Given the description of an element on the screen output the (x, y) to click on. 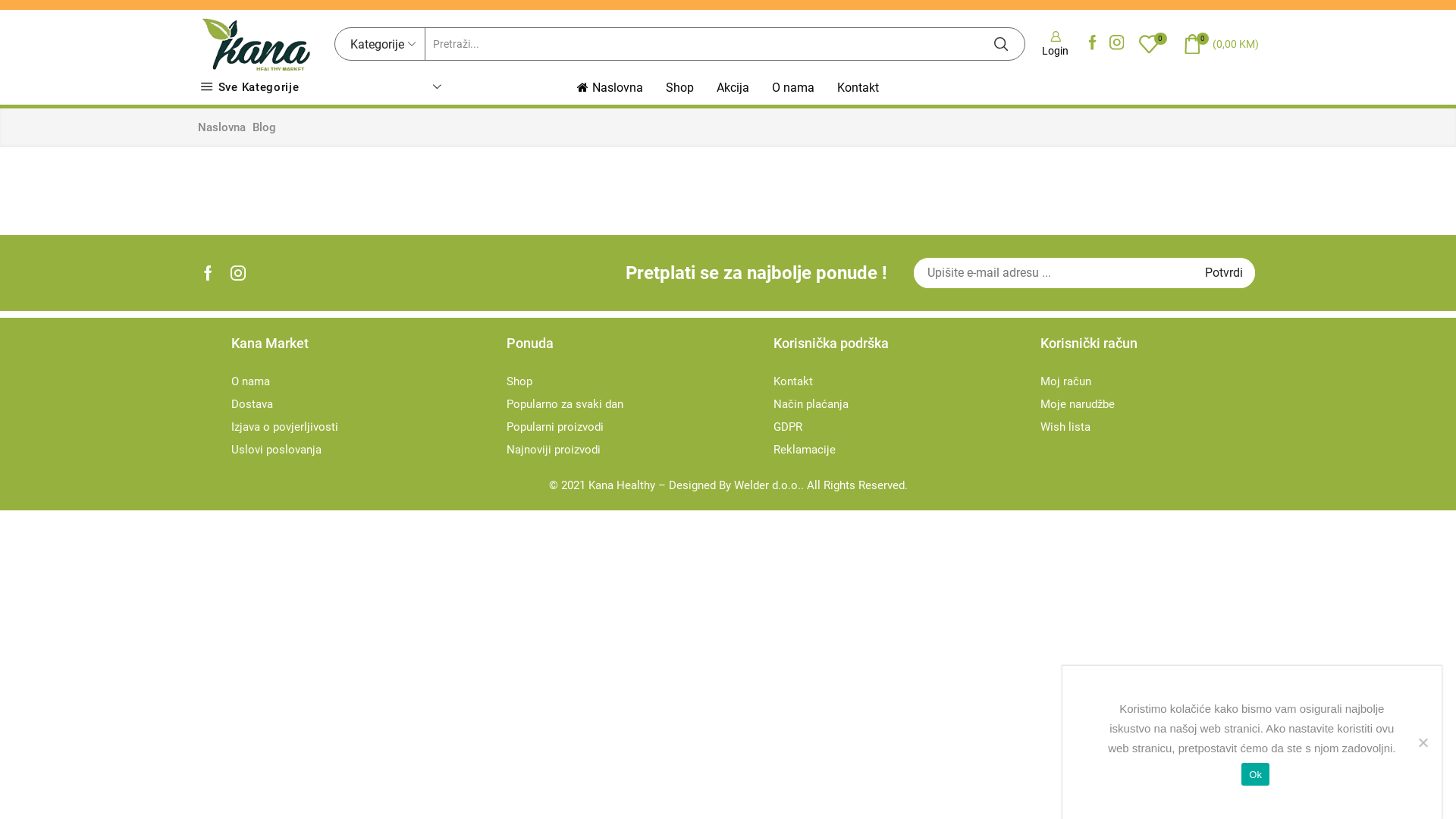
Login Element type: text (1055, 43)
O nama Element type: text (250, 381)
GDPR Element type: text (787, 426)
Kana Market Element type: text (357, 351)
Naslovna Element type: text (221, 127)
Shop Element type: text (519, 381)
Uslovi poslovanja Element type: text (276, 449)
Potvrdi Element type: text (1224, 272)
Popularni proizvodi Element type: text (554, 426)
Dostava Element type: text (252, 403)
Kontakt Element type: text (792, 381)
Izjava o povjerljivosti Element type: text (284, 426)
Facebook Element type: hover (1092, 43)
Kontakt Element type: text (857, 87)
0 Element type: text (1152, 44)
Shop Element type: text (679, 87)
0
(0,00 KM) Element type: text (1220, 44)
Reklamacije Element type: text (804, 449)
No Element type: hover (1422, 741)
O nama Element type: text (793, 87)
Ponuda Element type: text (632, 351)
Popularno za svaki dan Element type: text (564, 403)
Instagram Element type: hover (1116, 43)
Akcija Element type: text (732, 87)
Naslovna Element type: text (609, 87)
Wish lista Element type: text (1065, 426)
Najnoviji proizvodi Element type: text (553, 449)
Ok Element type: text (1255, 773)
